Given the description of an element on the screen output the (x, y) to click on. 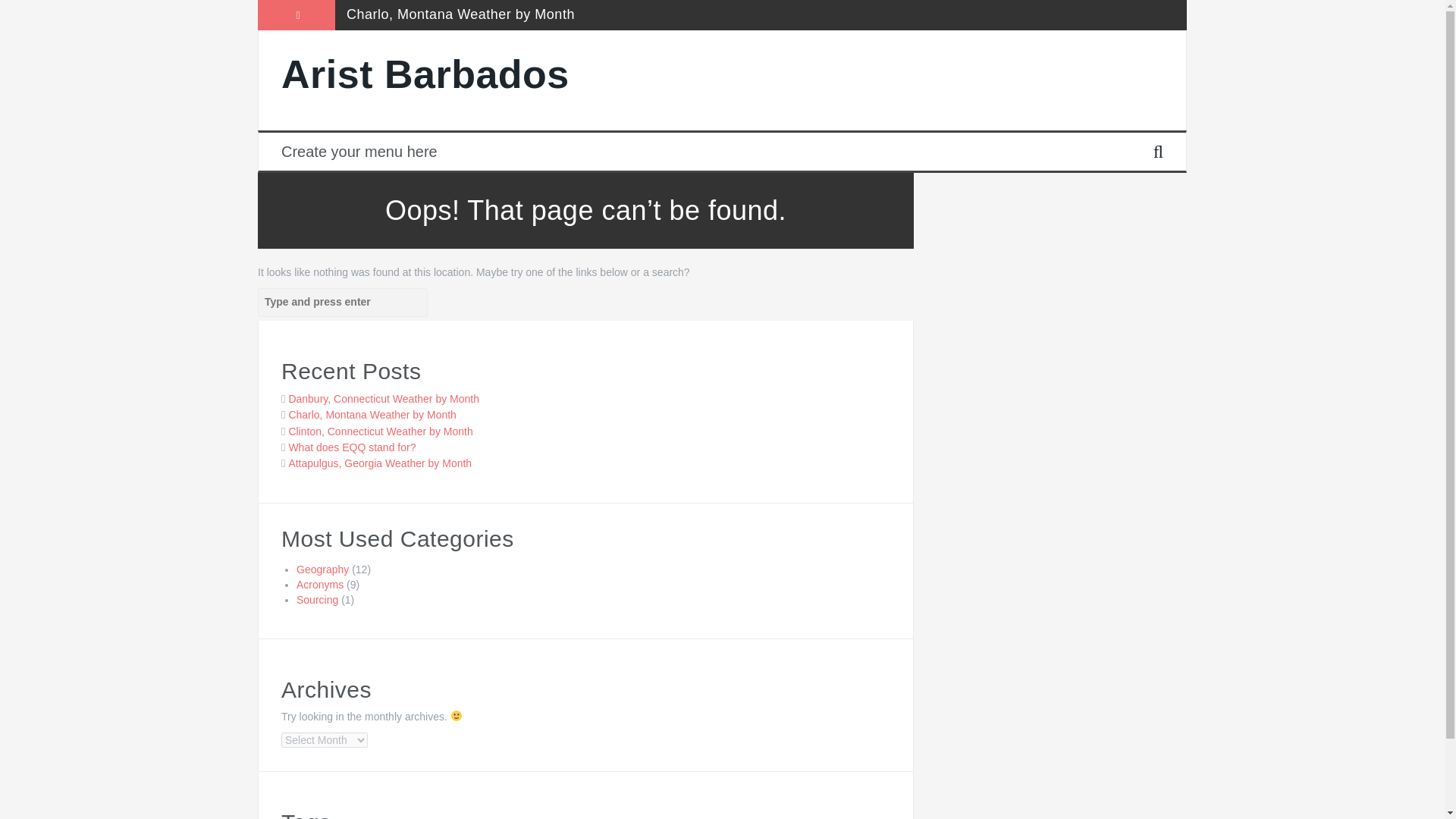
What does EQQ stand for? (351, 447)
Charlo, Montana Weather by Month (372, 414)
Attapulgus, Georgia Weather by Month (379, 463)
Arist Barbados (425, 74)
Charlo, Montana Weather by Month (460, 14)
Danbury, Connecticut Weather by Month (383, 398)
Acronyms (320, 584)
Create your menu here (359, 151)
Clinton, Connecticut Weather by Month (379, 431)
